Given the description of an element on the screen output the (x, y) to click on. 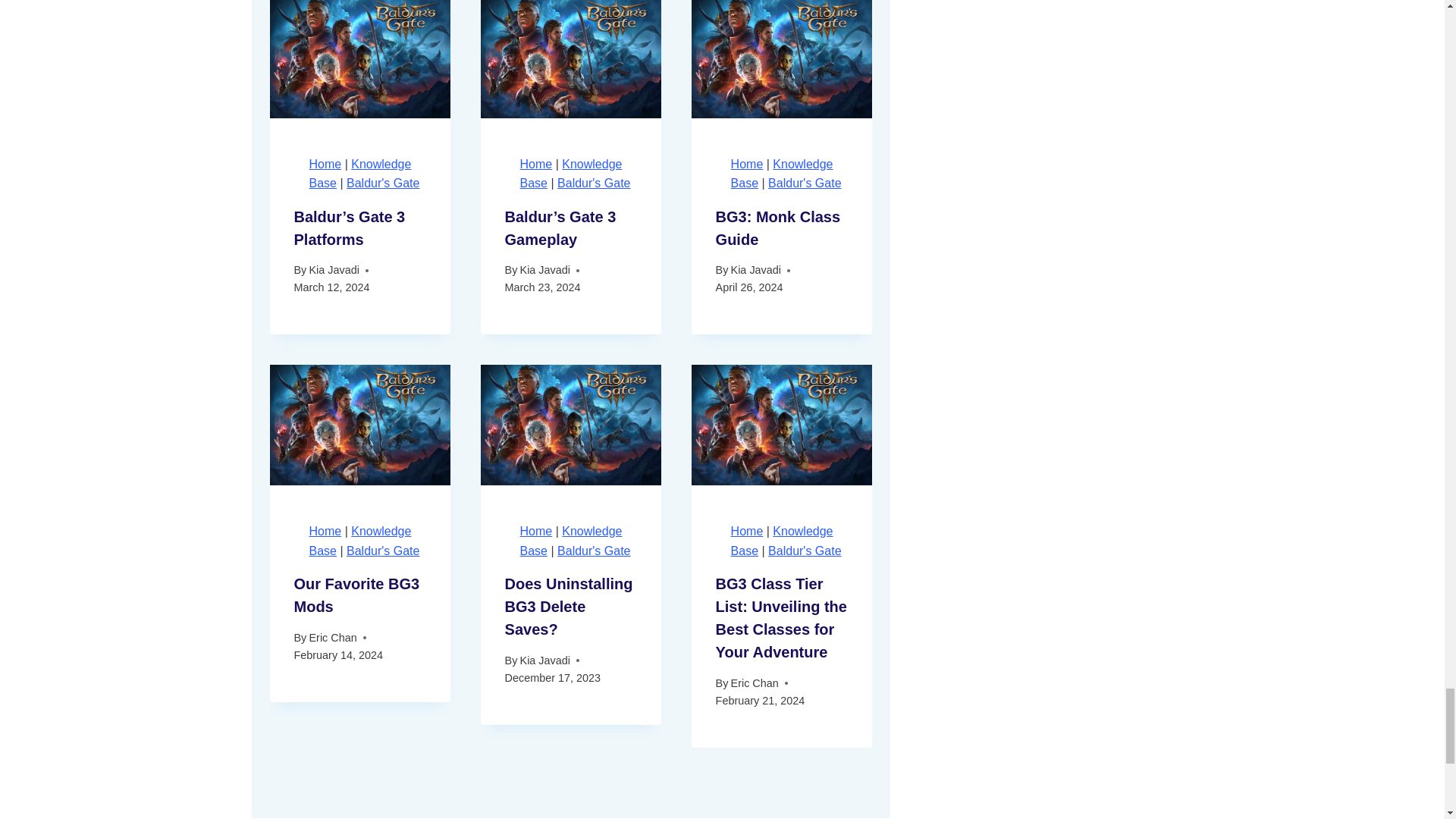
Baldur's Gate 3 Platforms 2 (359, 58)
Does Uninstalling BG3 Delete Saves? 6 (570, 424)
Home (325, 164)
Kia Javadi (333, 269)
Baldur's Gate 3 Gameplay 3 (570, 58)
Baldur's Gate (382, 182)
Our Favorite BG3 Mods 5 (359, 424)
Knowledge Base (360, 174)
BG3: Monk Class Guide 4 (781, 58)
